Given the description of an element on the screen output the (x, y) to click on. 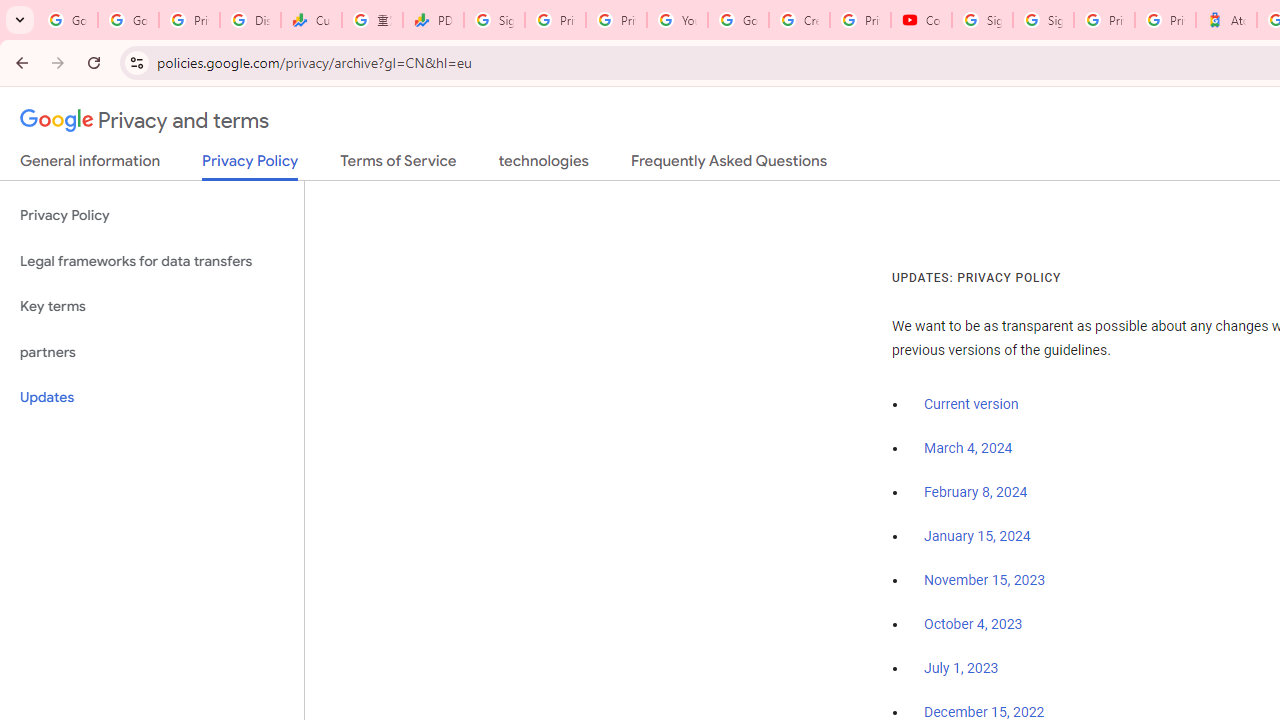
February 8, 2024 (975, 492)
Content Creator Programs & Opportunities - YouTube Creators (921, 20)
technologies (542, 165)
November 15, 2023 (984, 580)
Create your Google Account (799, 20)
Atour Hotel - Google hotels (1225, 20)
Currencies - Google Finance (310, 20)
July 1, 2023 (961, 669)
Privacy Checkup (616, 20)
October 4, 2023 (973, 625)
